Given the description of an element on the screen output the (x, y) to click on. 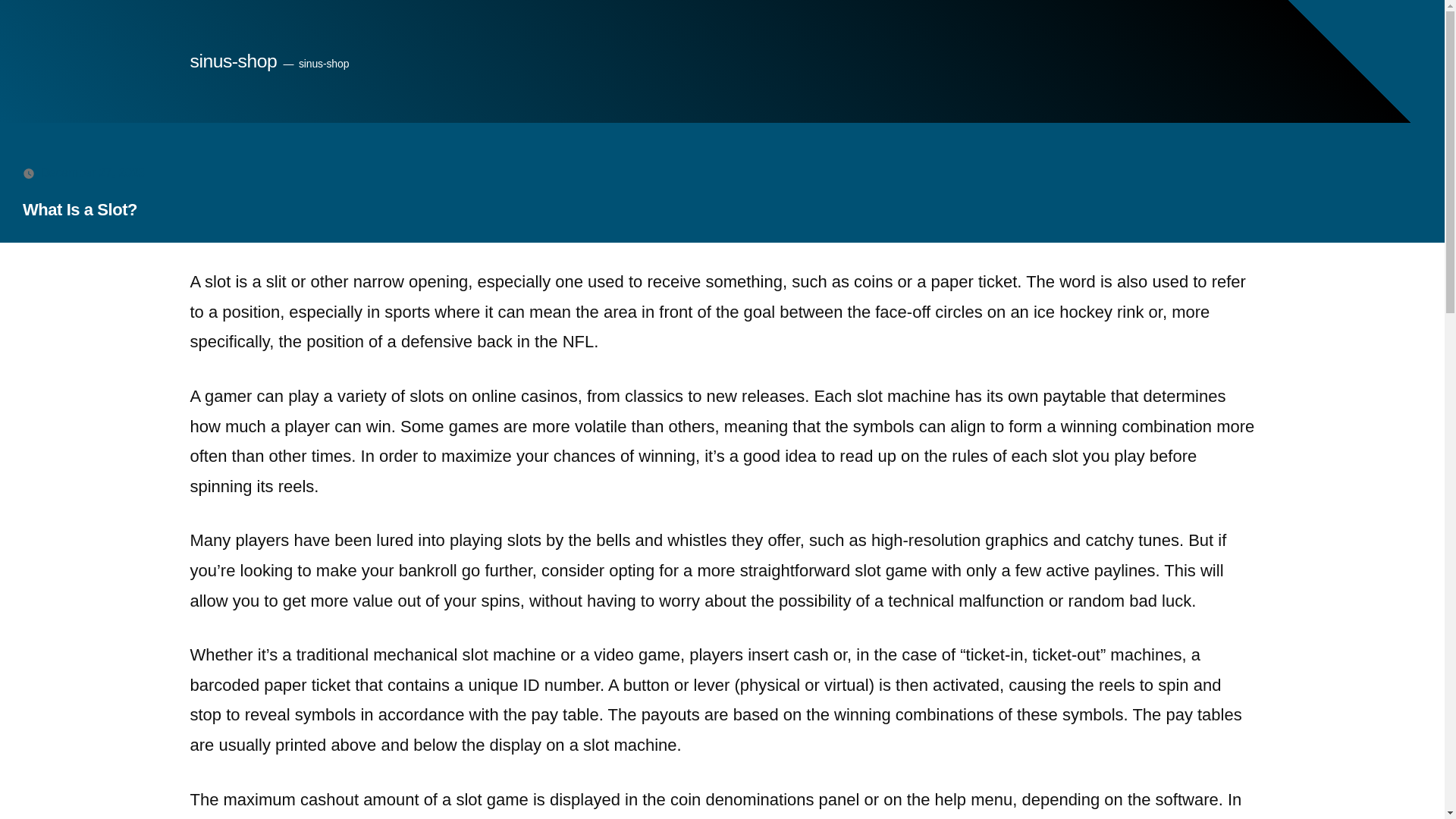
sinus-shop (232, 60)
December 27, 2023 (92, 172)
